Given the description of an element on the screen output the (x, y) to click on. 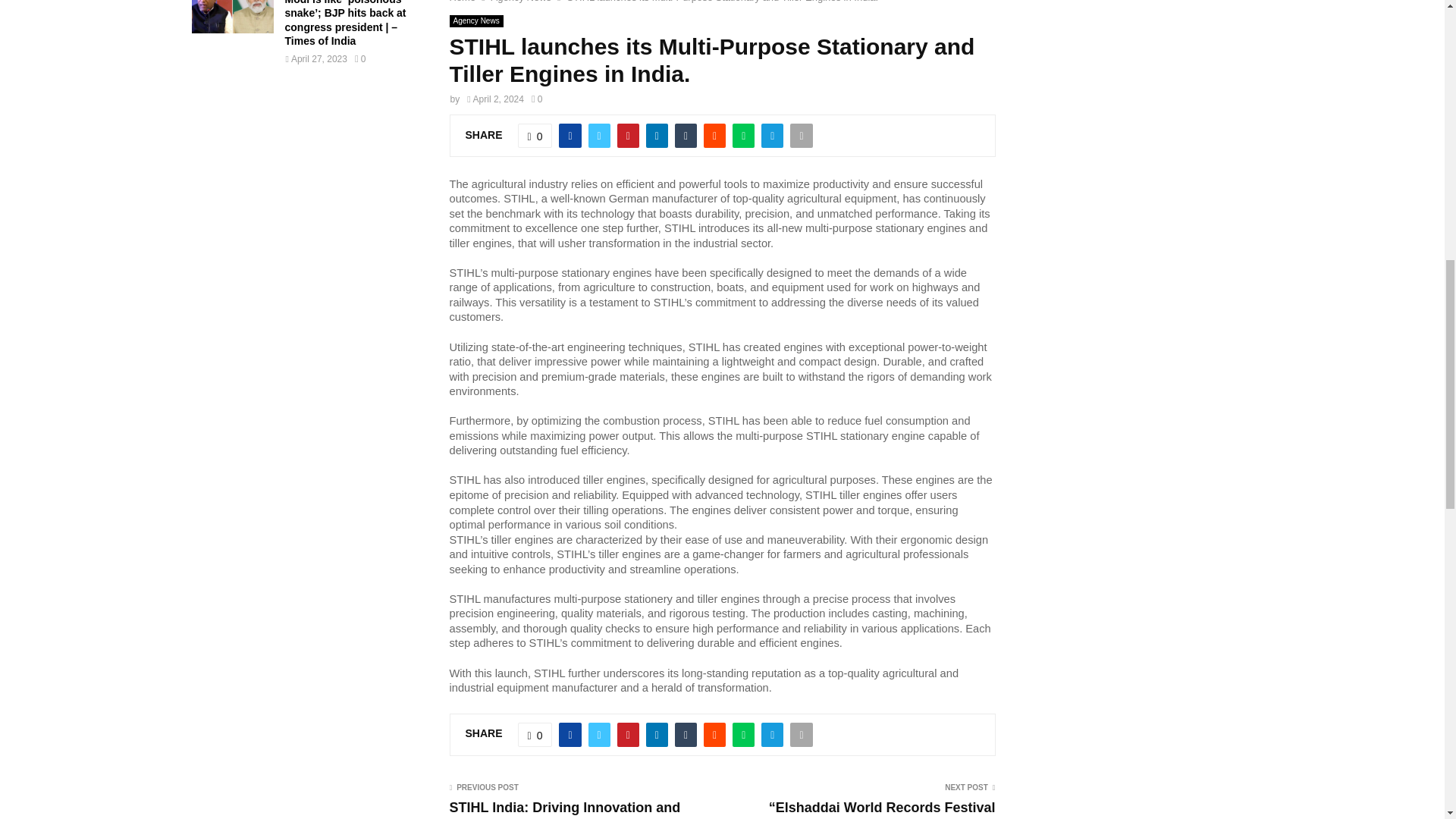
Home (462, 1)
Like (535, 135)
Agency News (521, 1)
Like (535, 734)
